Given the description of an element on the screen output the (x, y) to click on. 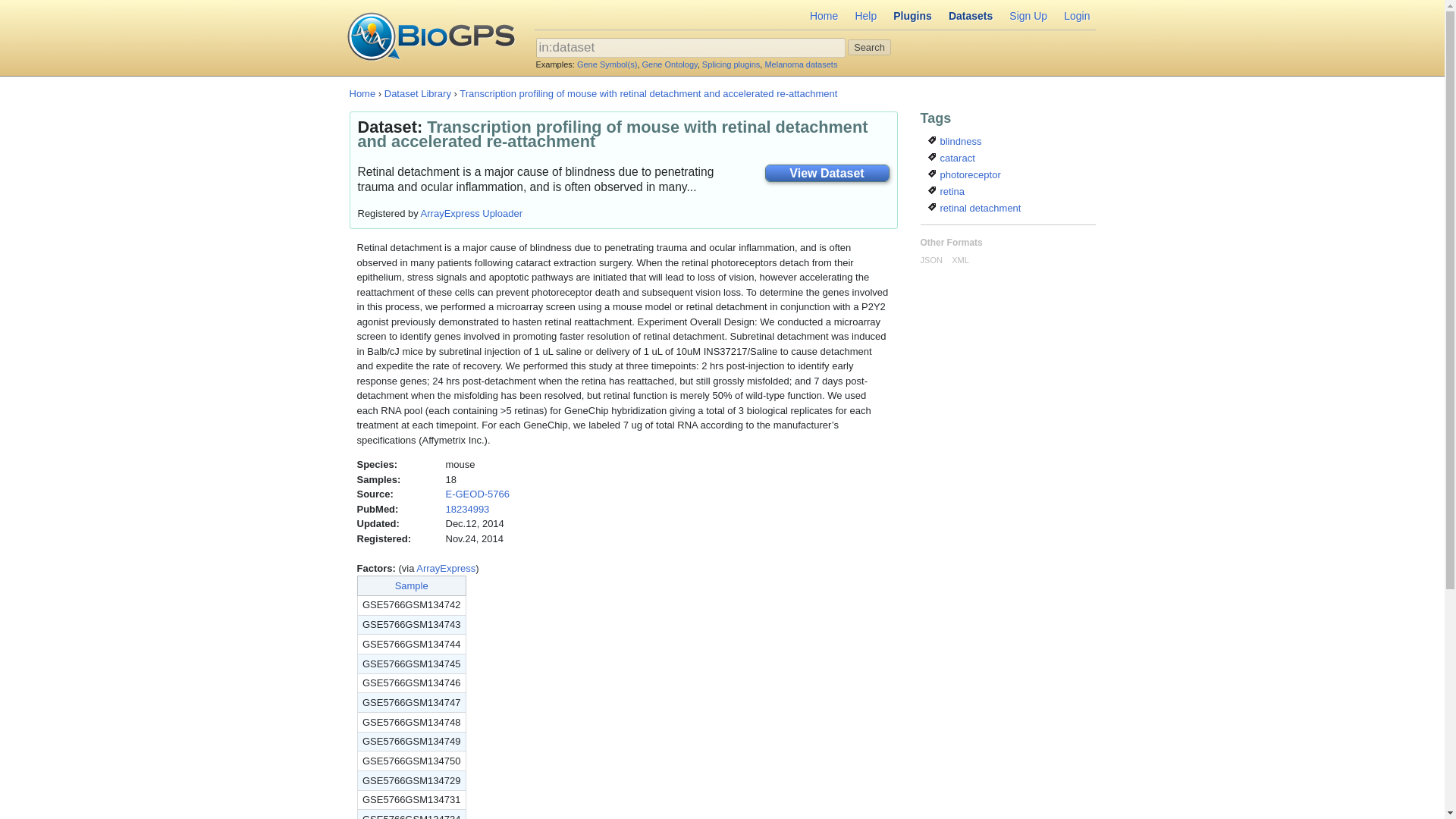
in:dataset  (689, 47)
cataract (951, 157)
ArrayExpress (446, 568)
Dataset Library (417, 93)
18234993 (467, 509)
E-GEOD-5766 (478, 493)
retina (945, 191)
Home (824, 16)
Gene Ontology (669, 62)
Help (865, 16)
Melanoma datasets (800, 62)
photoreceptor (964, 174)
JSON (931, 259)
XML (960, 259)
Plugins (912, 16)
